Given the description of an element on the screen output the (x, y) to click on. 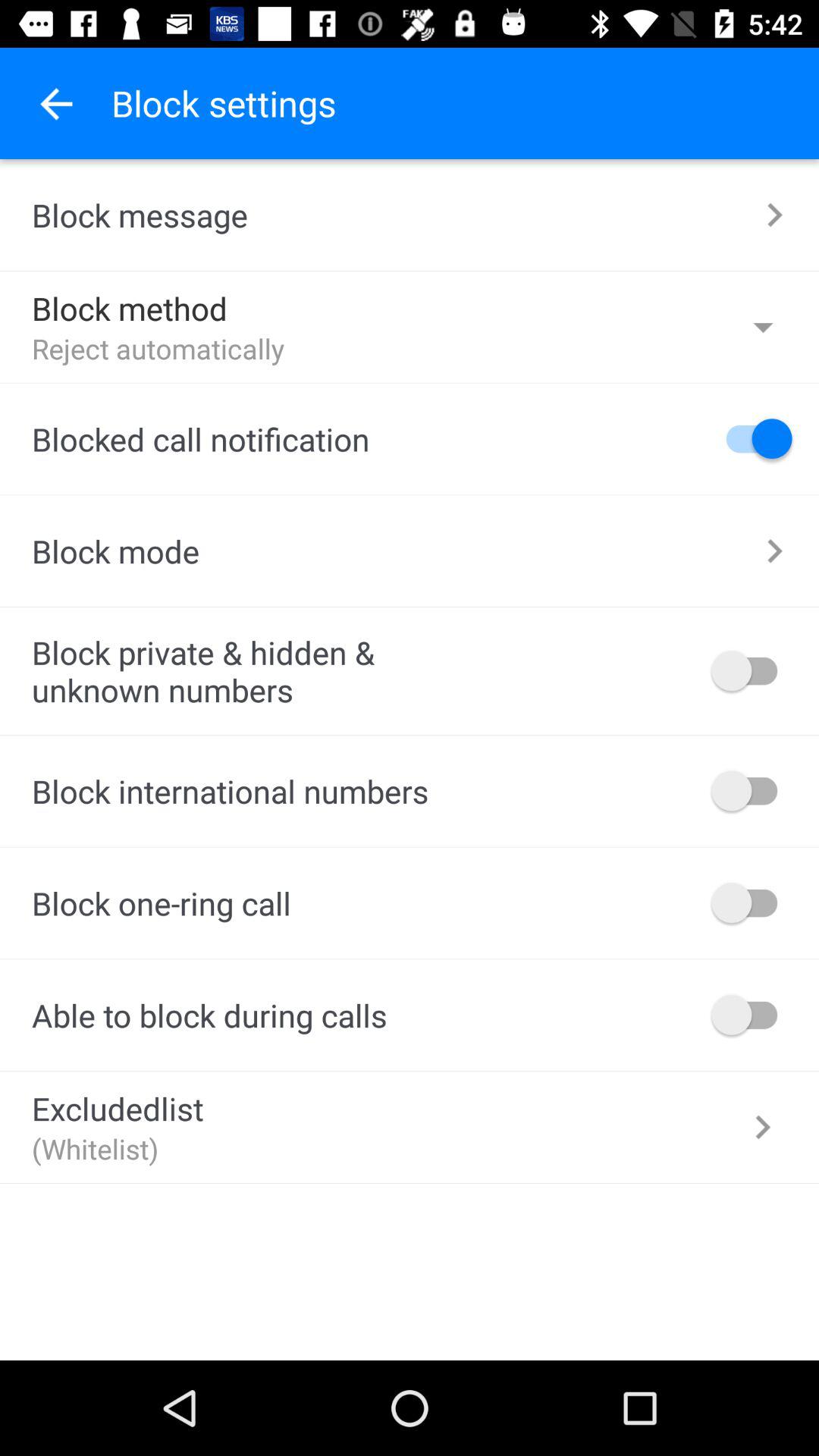
choose item above block message (55, 103)
